Given the description of an element on the screen output the (x, y) to click on. 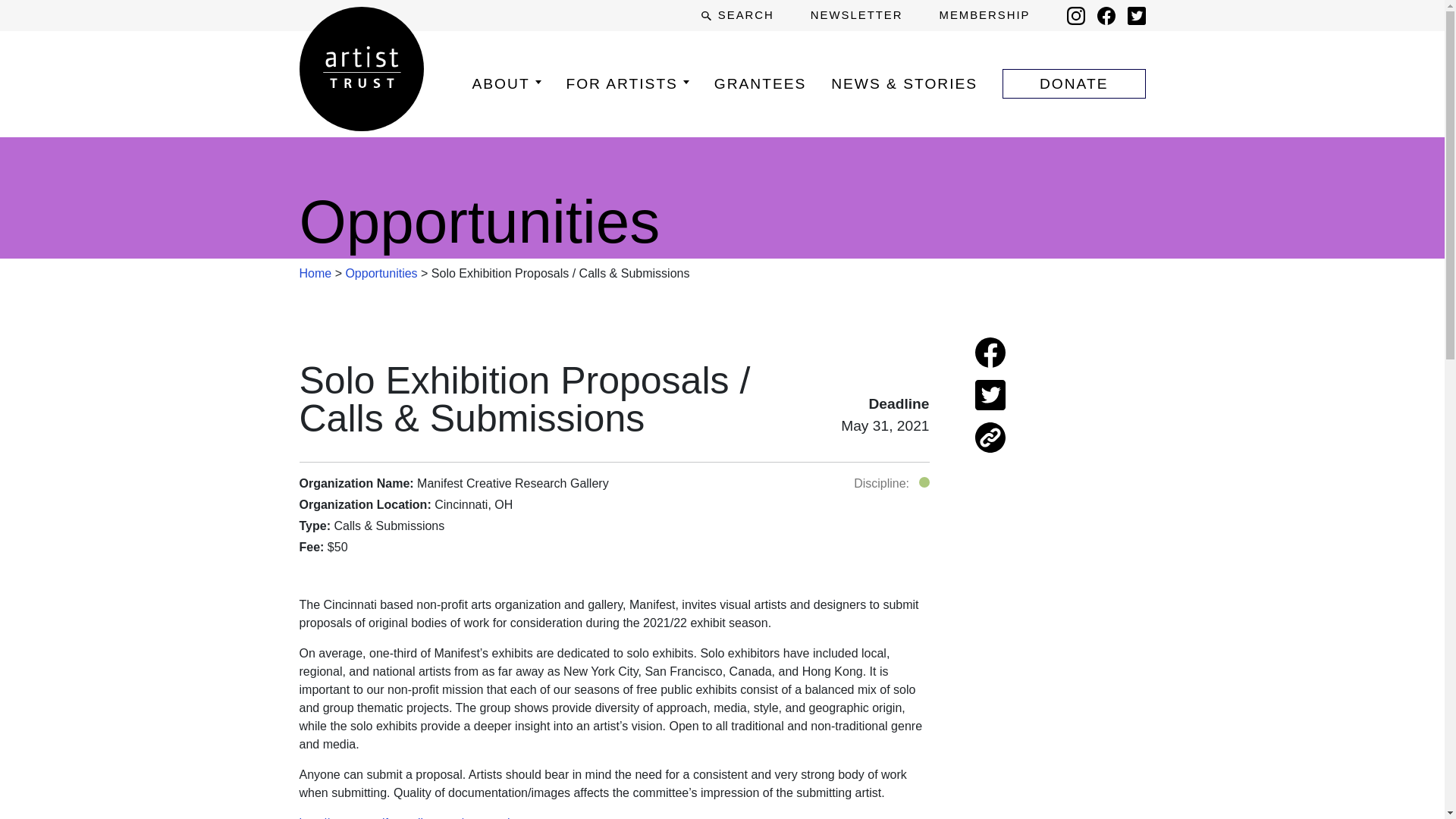
FOR ARTISTS (627, 83)
GRANTEES (760, 83)
Instagram (1074, 15)
Opportunities (380, 273)
SEARCH (737, 14)
Facebook (1105, 15)
DONATE (1074, 83)
Twitter (1135, 15)
MEMBERSHIP (984, 14)
ABOUT (505, 83)
